Given the description of an element on the screen output the (x, y) to click on. 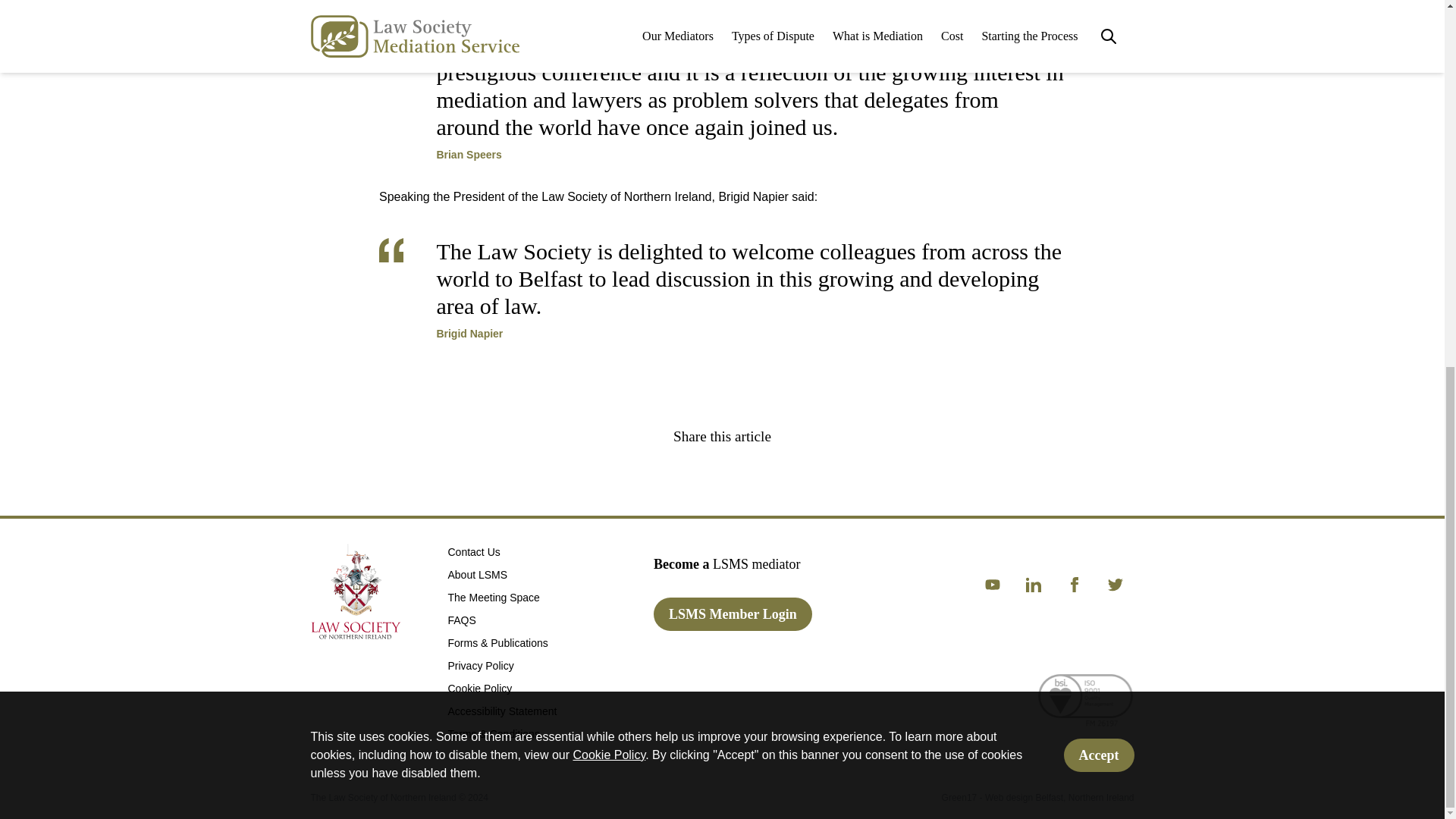
LSMS Member Login (732, 613)
Contact Us (472, 551)
Twitter (1115, 584)
Accept (1099, 94)
YouTube (992, 584)
Become a LSMS mediator (726, 563)
Cookie Policy (479, 688)
FAQS (461, 620)
linkedIn (1032, 584)
About LSMS (476, 574)
The Meeting Space (492, 597)
Cookie Policy (608, 93)
Privacy Policy (479, 665)
Green17 - Web design Belfast, Northern Ireland (1038, 797)
Accessibility Statement (501, 711)
